Given the description of an element on the screen output the (x, y) to click on. 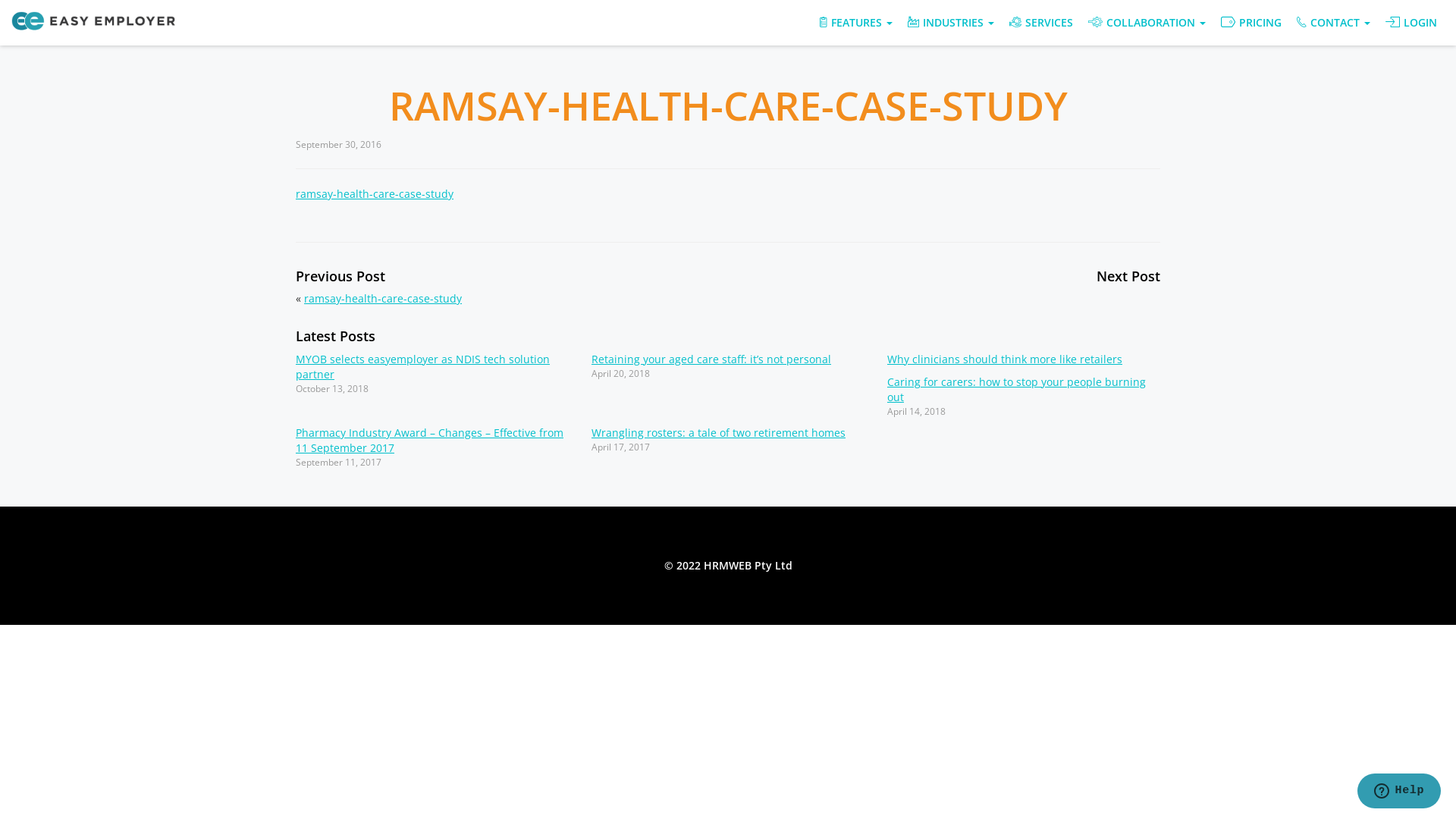
Wrangling rosters: a tale of two retirement homes Element type: text (718, 432)
Opens a widget where you can find more information Element type: hover (1398, 792)
SERVICES Element type: text (1040, 22)
LOGIN Element type: text (1410, 22)
FEATURES Element type: text (856, 22)
Caring for carers: how to stop your people burning out Element type: text (1016, 389)
ramsay-health-care-case-study Element type: text (382, 298)
MYOB selects easyemployer as NDIS tech solution partner Element type: text (422, 366)
INDUSTRIES Element type: text (950, 22)
ramsay-health-care-case-study Element type: text (374, 193)
COLLABORATION Element type: text (1146, 22)
Why clinicians should think more like retailers Element type: text (1004, 358)
PRICING Element type: text (1251, 22)
CONTACT Element type: text (1333, 22)
